Given the description of an element on the screen output the (x, y) to click on. 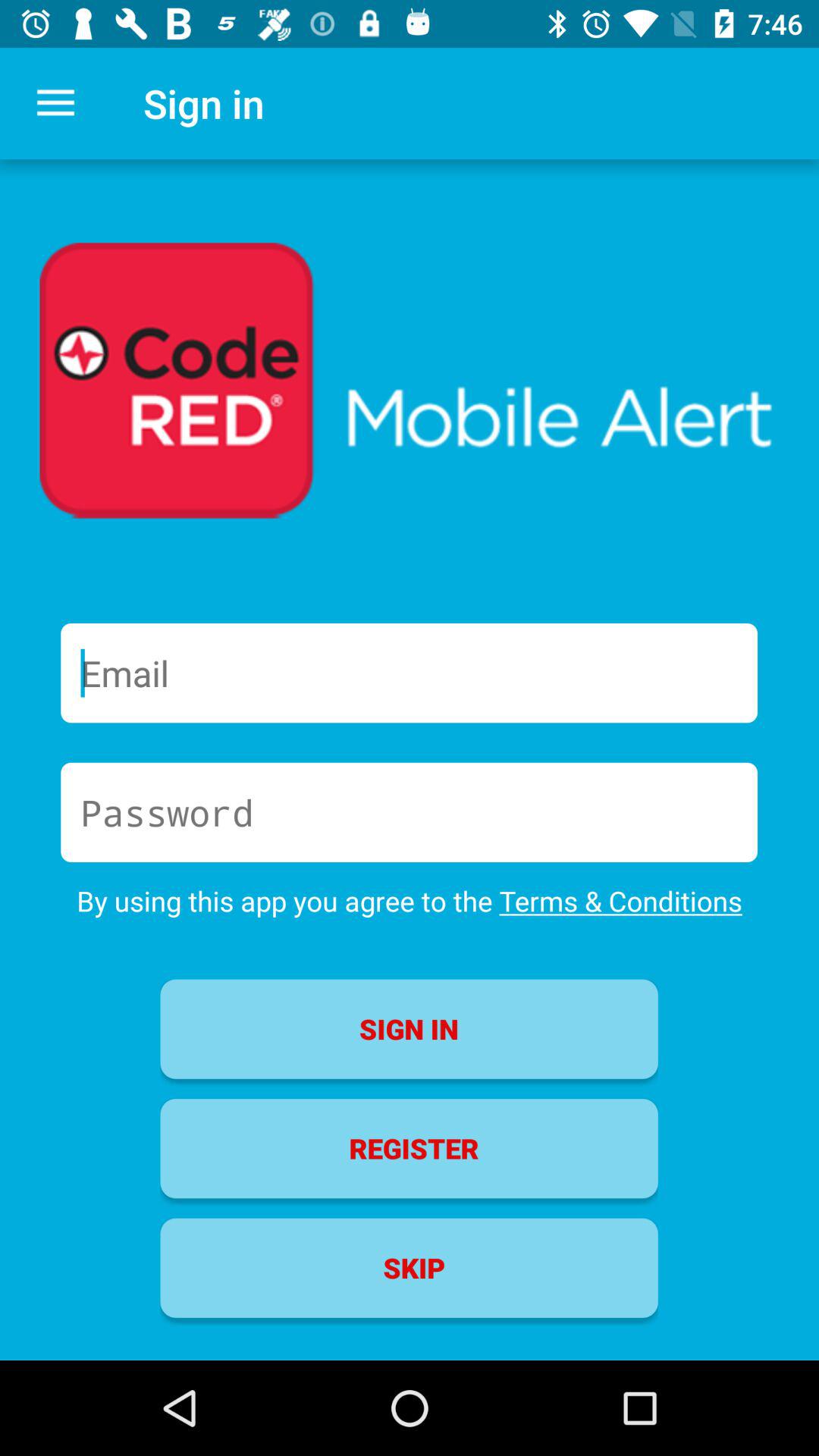
turn off register item (409, 1148)
